Given the description of an element on the screen output the (x, y) to click on. 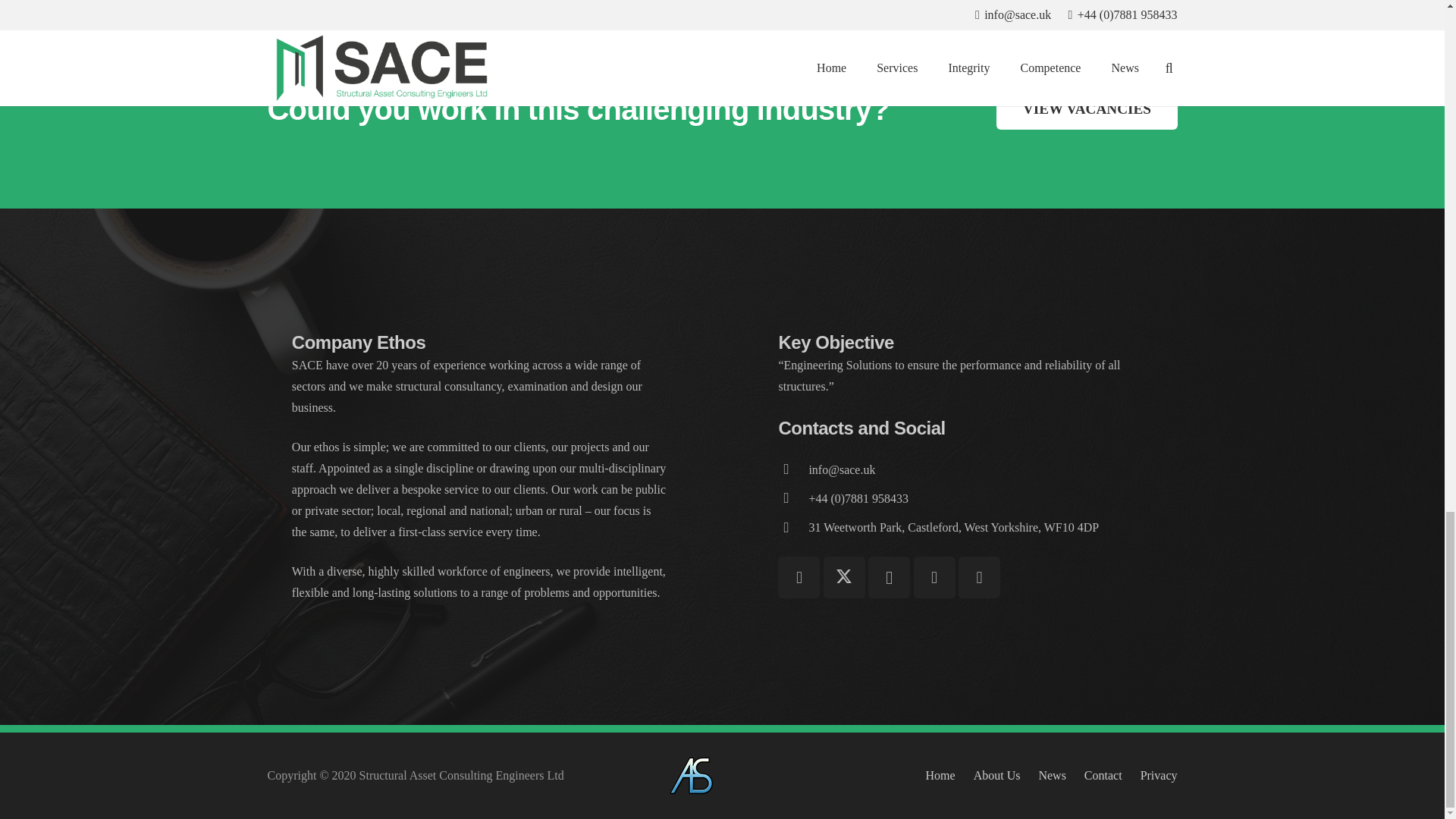
Job Opportunities (1085, 108)
Instagram (888, 577)
Twitter (844, 577)
Contact (841, 469)
Contact (792, 469)
LinkedIn (934, 577)
VIEW VACANCIES (1085, 108)
WhatsApp (979, 577)
Facebook (798, 577)
